Given the description of an element on the screen output the (x, y) to click on. 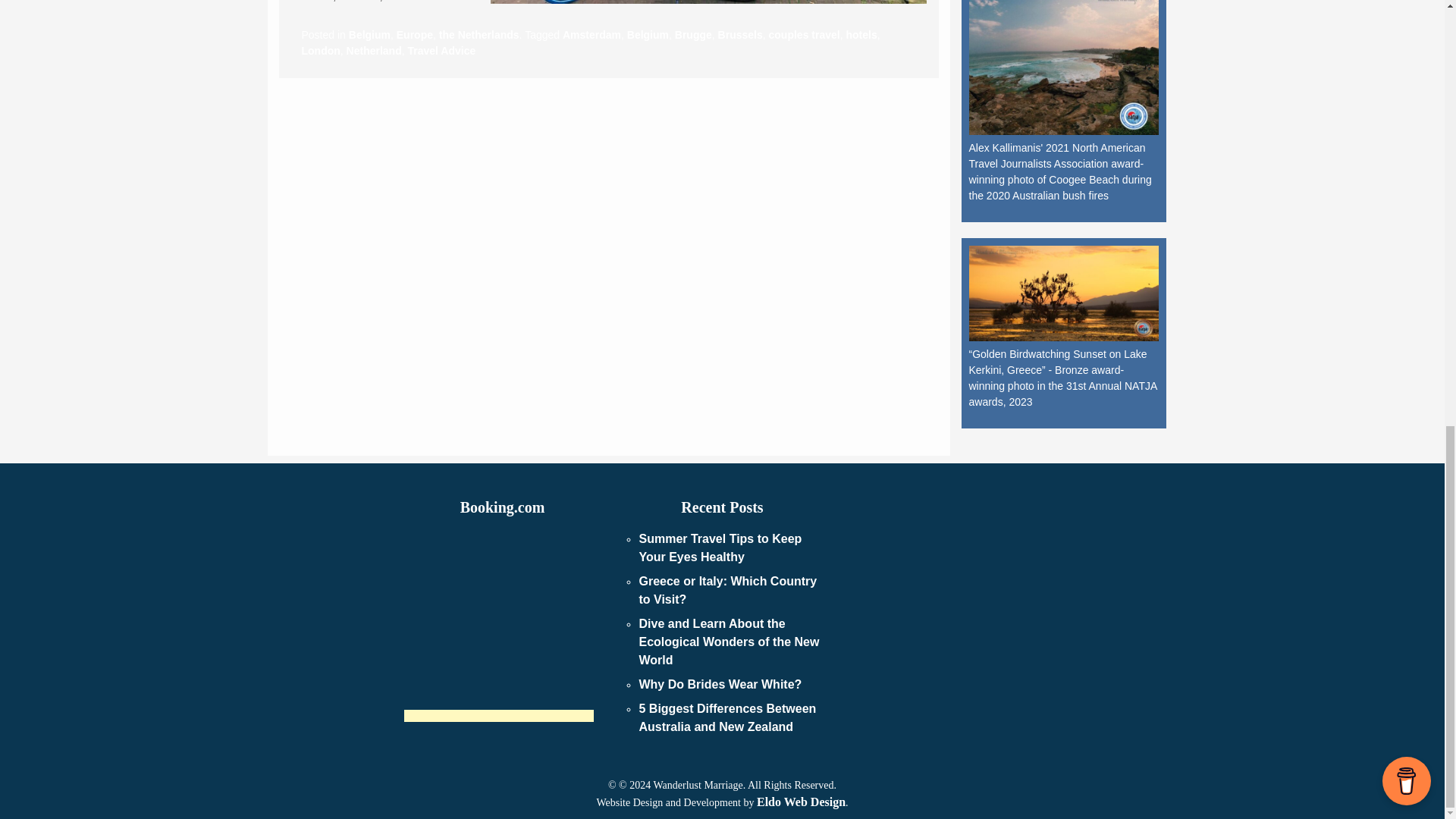
London, Brussels, Amsterdam: One Week Itinerary (708, 2)
Belgium (369, 34)
